Given the description of an element on the screen output the (x, y) to click on. 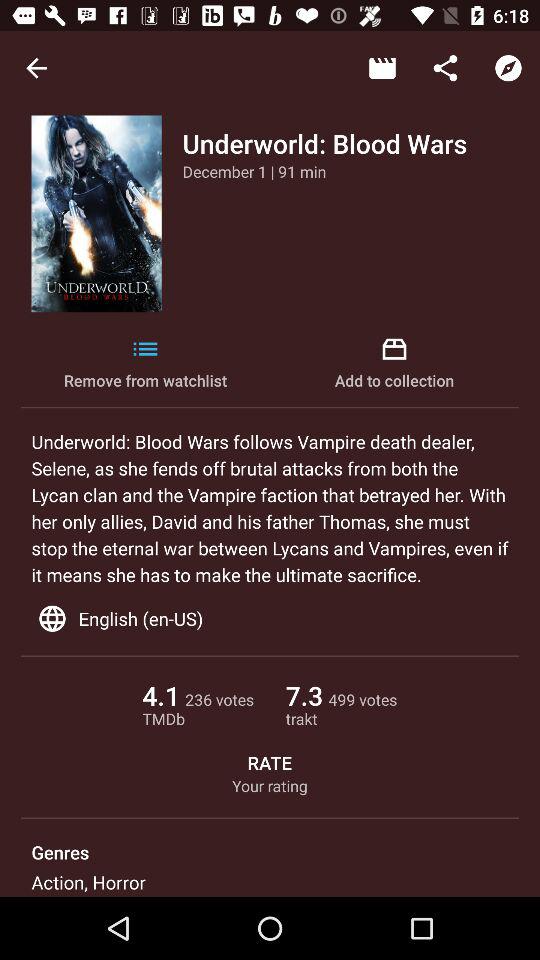
select the action, horror icon (88, 882)
